Given the description of an element on the screen output the (x, y) to click on. 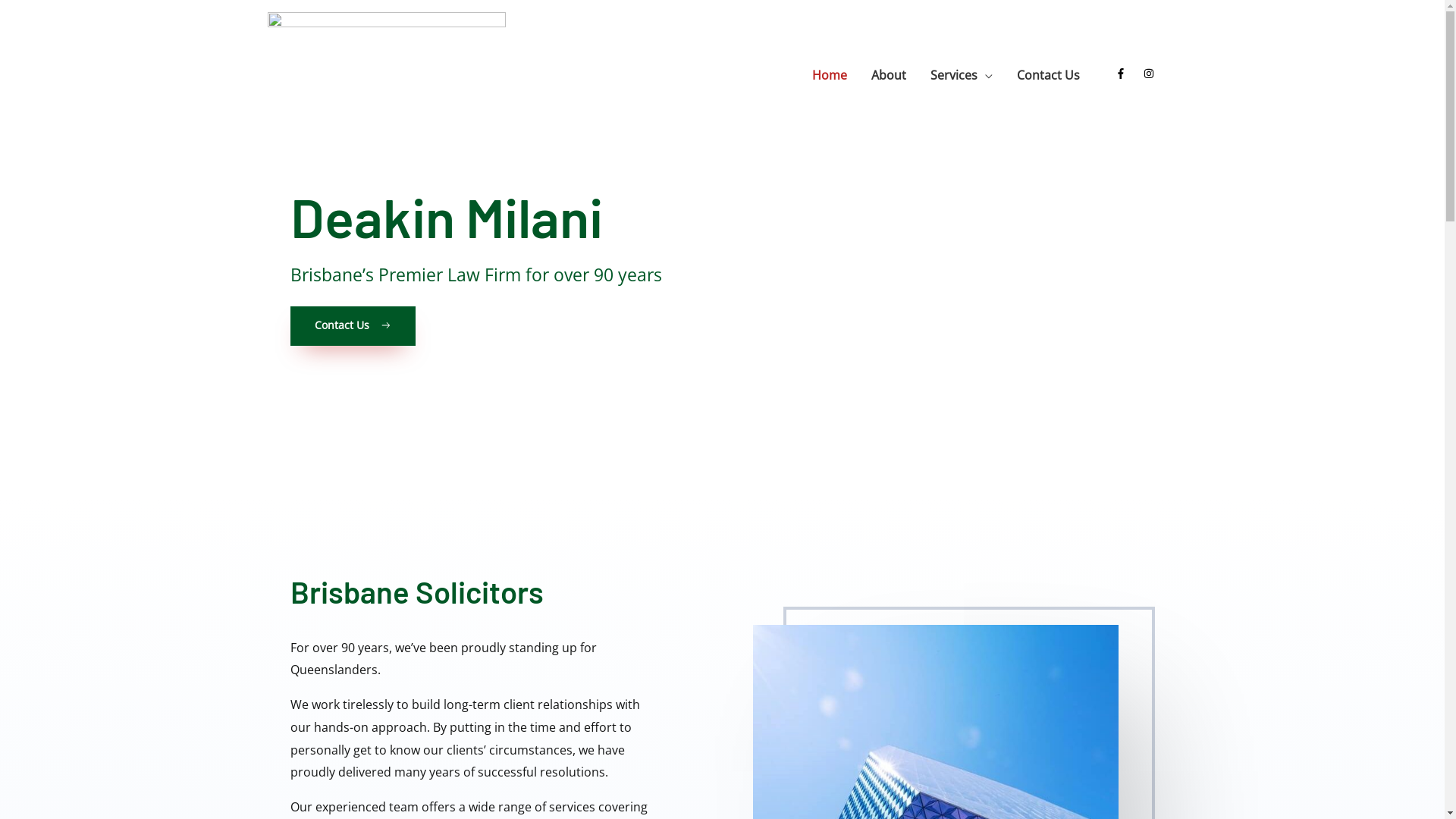
About Element type: text (887, 74)
Contact Us Element type: text (351, 325)
Home Element type: text (828, 74)
Contact Us Element type: text (1047, 74)
Services Element type: text (960, 74)
